Given the description of an element on the screen output the (x, y) to click on. 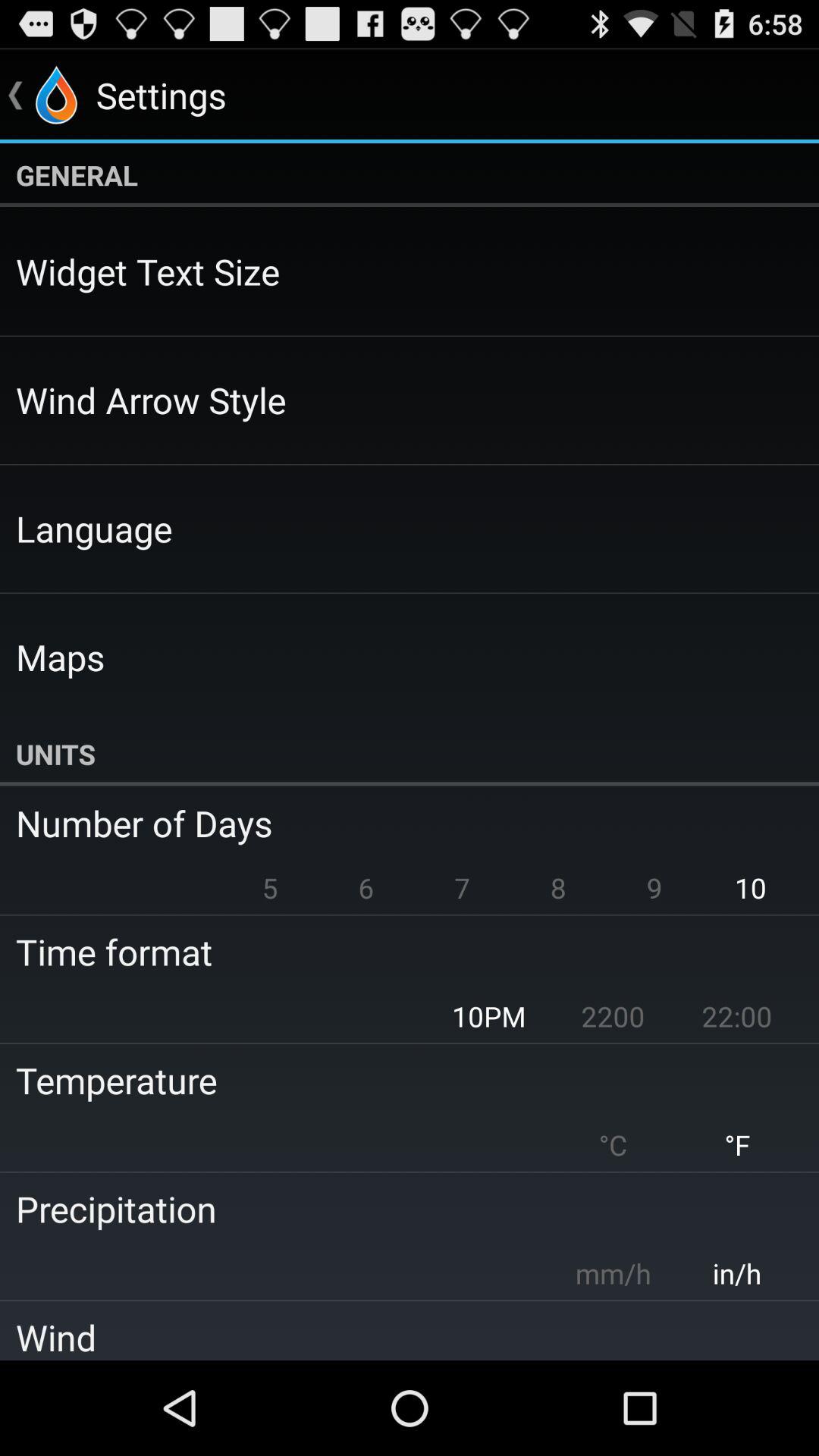
swipe until the language item (93, 528)
